Given the description of an element on the screen output the (x, y) to click on. 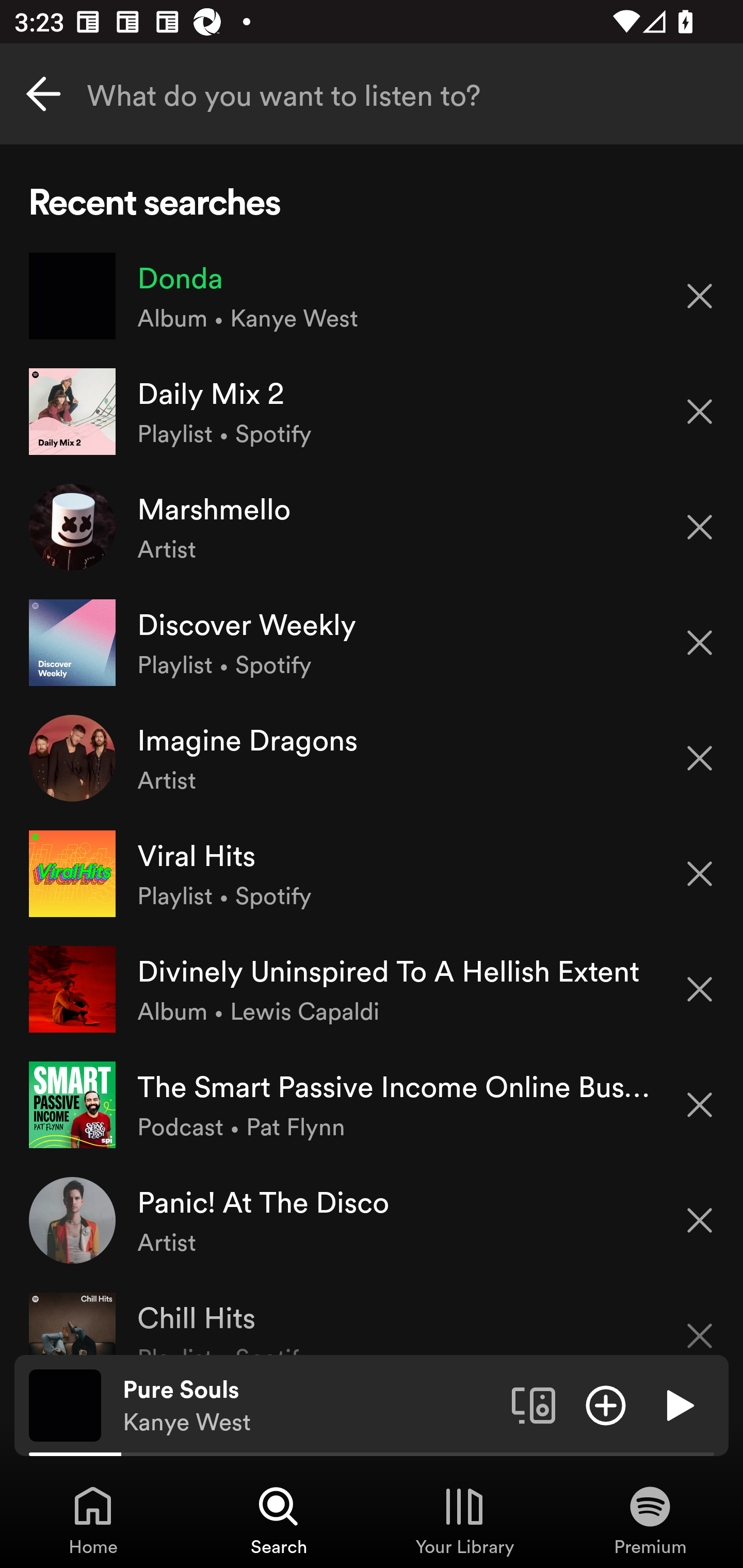
What do you want to listen to? (371, 93)
Cancel (43, 93)
Donda Album • Kanye West Remove (371, 296)
Remove (699, 295)
Daily Mix 2 Playlist • Spotify Remove (371, 411)
Remove (699, 411)
Marshmello Artist Remove (371, 526)
Remove (699, 527)
Discover Weekly Playlist • Spotify Remove (371, 642)
Remove (699, 642)
Imagine Dragons Artist Remove (371, 757)
Remove (699, 758)
Viral Hits Playlist • Spotify Remove (371, 873)
Remove (699, 874)
Remove (699, 989)
Remove (699, 1104)
Panic! At The Disco Artist Remove (371, 1219)
Remove (699, 1220)
